Given the description of an element on the screen output the (x, y) to click on. 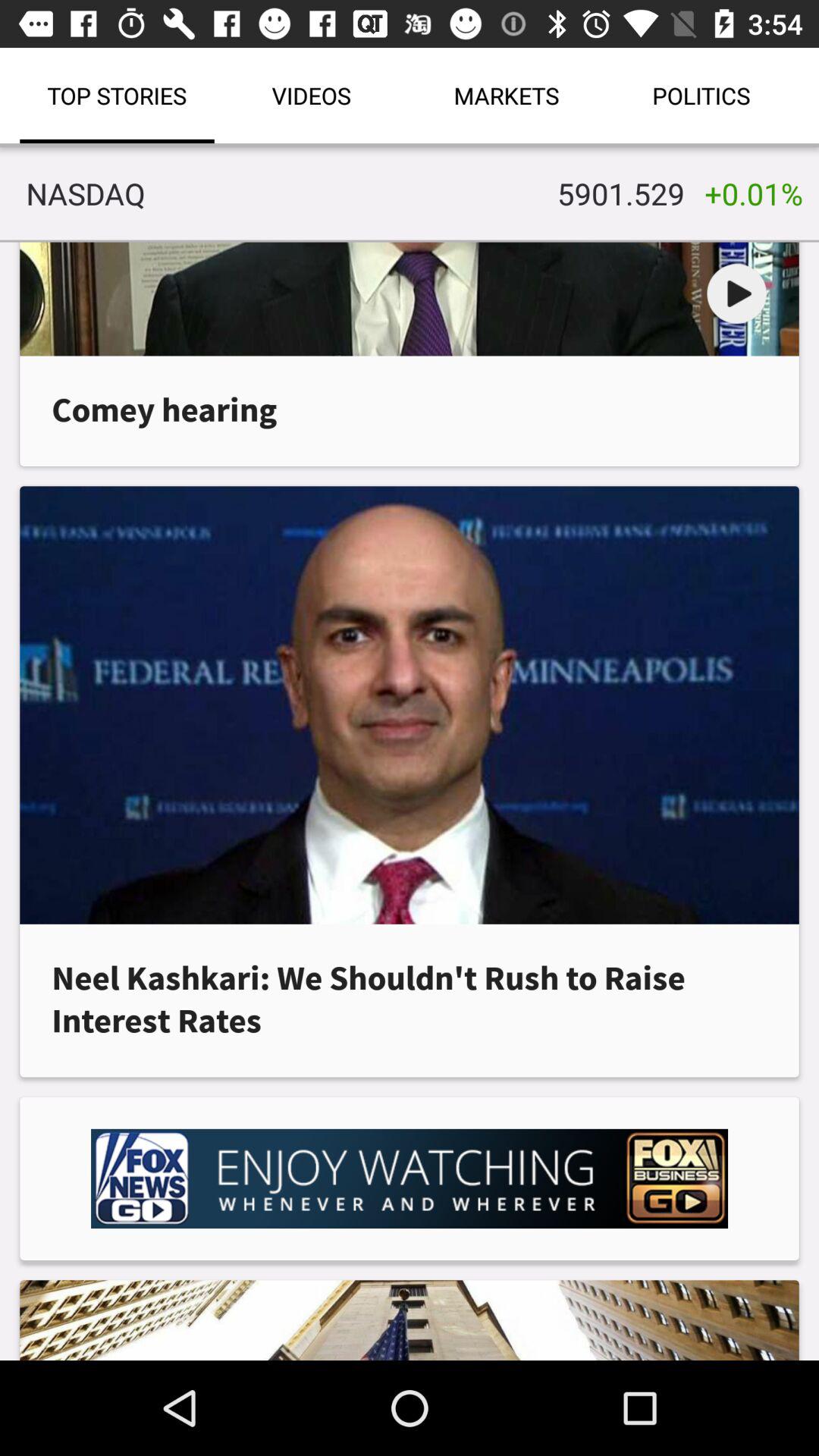
go to advertisement site (409, 1178)
